Given the description of an element on the screen output the (x, y) to click on. 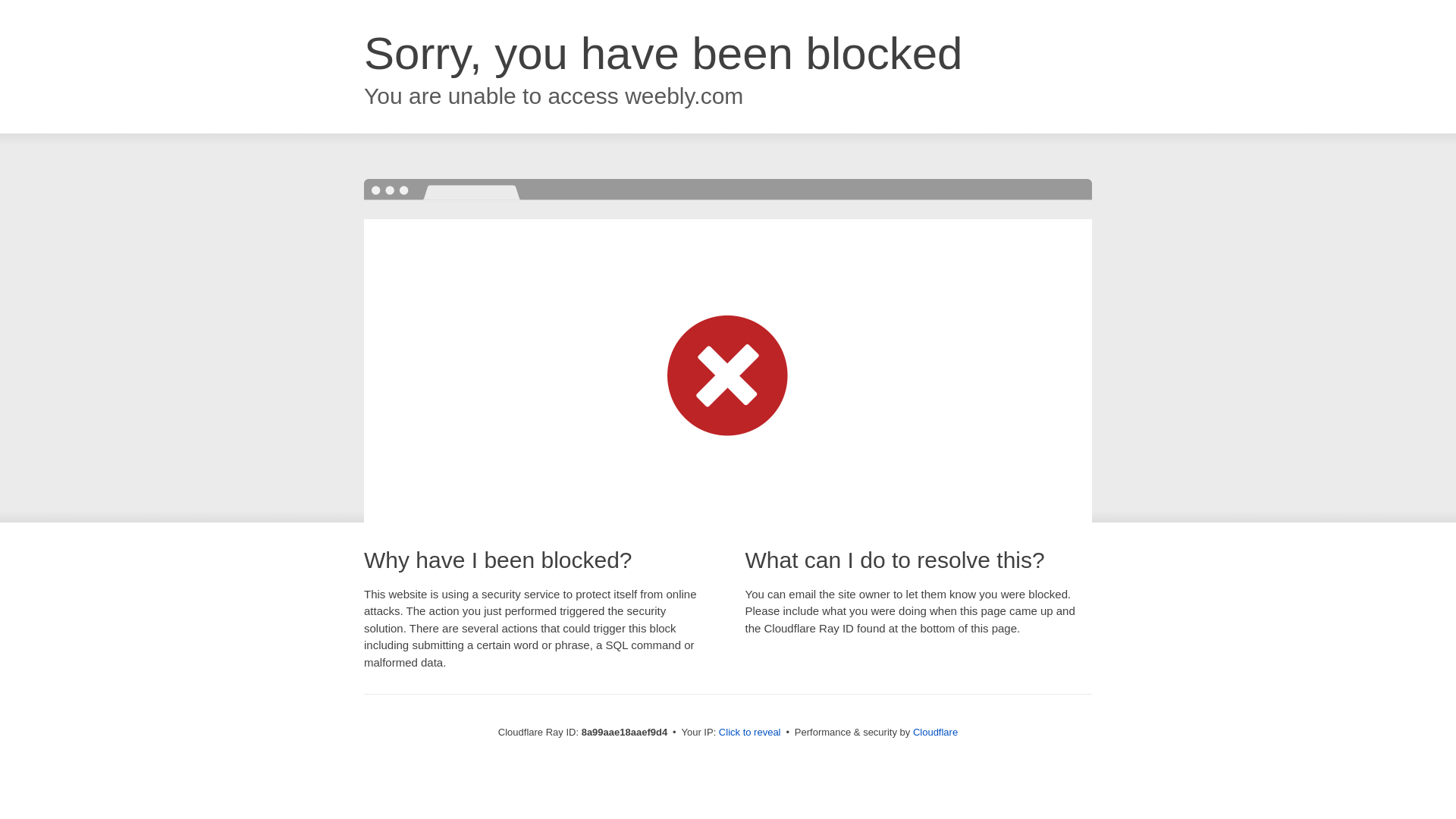
Cloudflare (935, 731)
Click to reveal (749, 732)
